Given the description of an element on the screen output the (x, y) to click on. 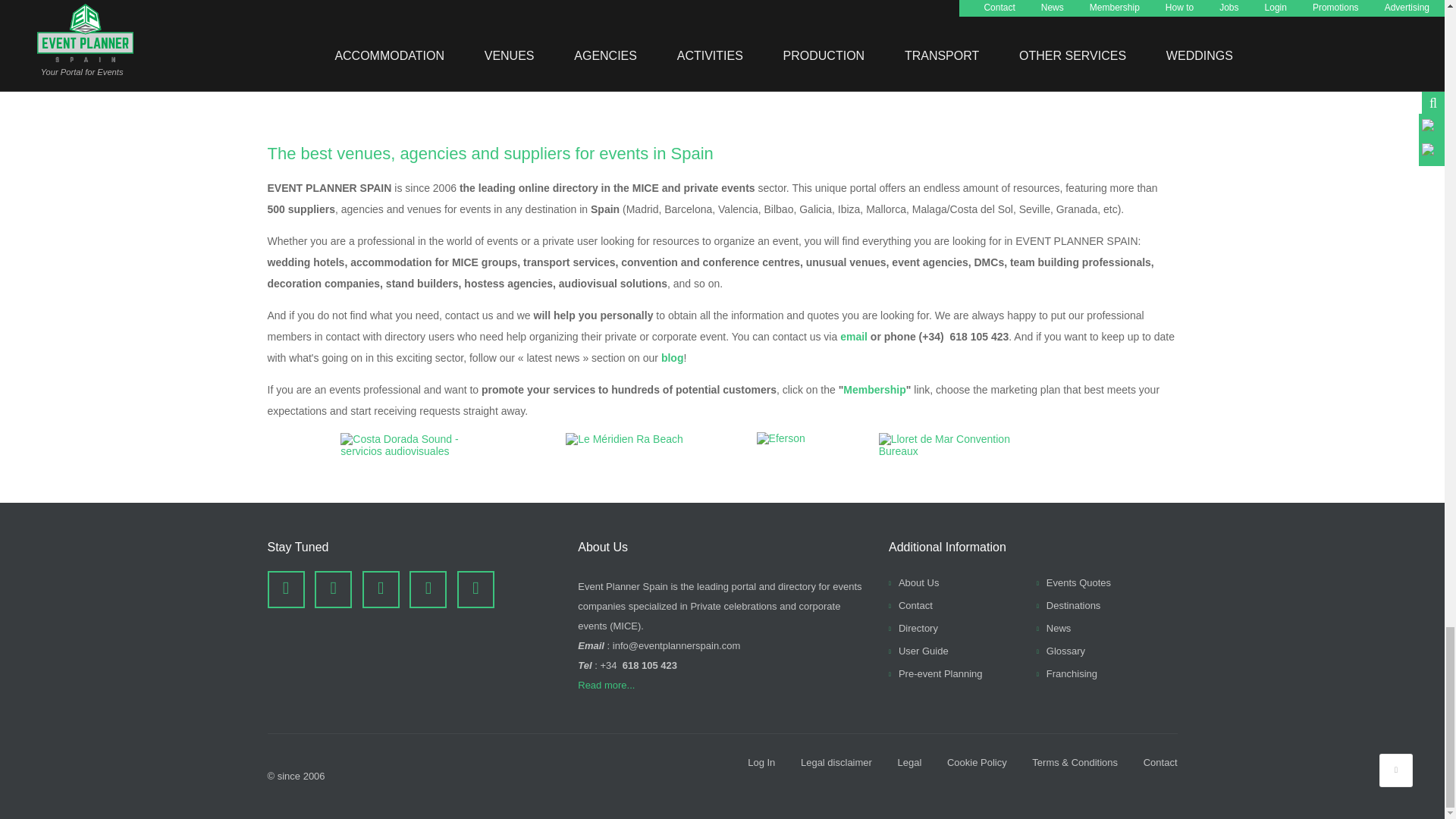
Abouts Us (913, 582)
Glossary (1060, 650)
